Given the description of an element on the screen output the (x, y) to click on. 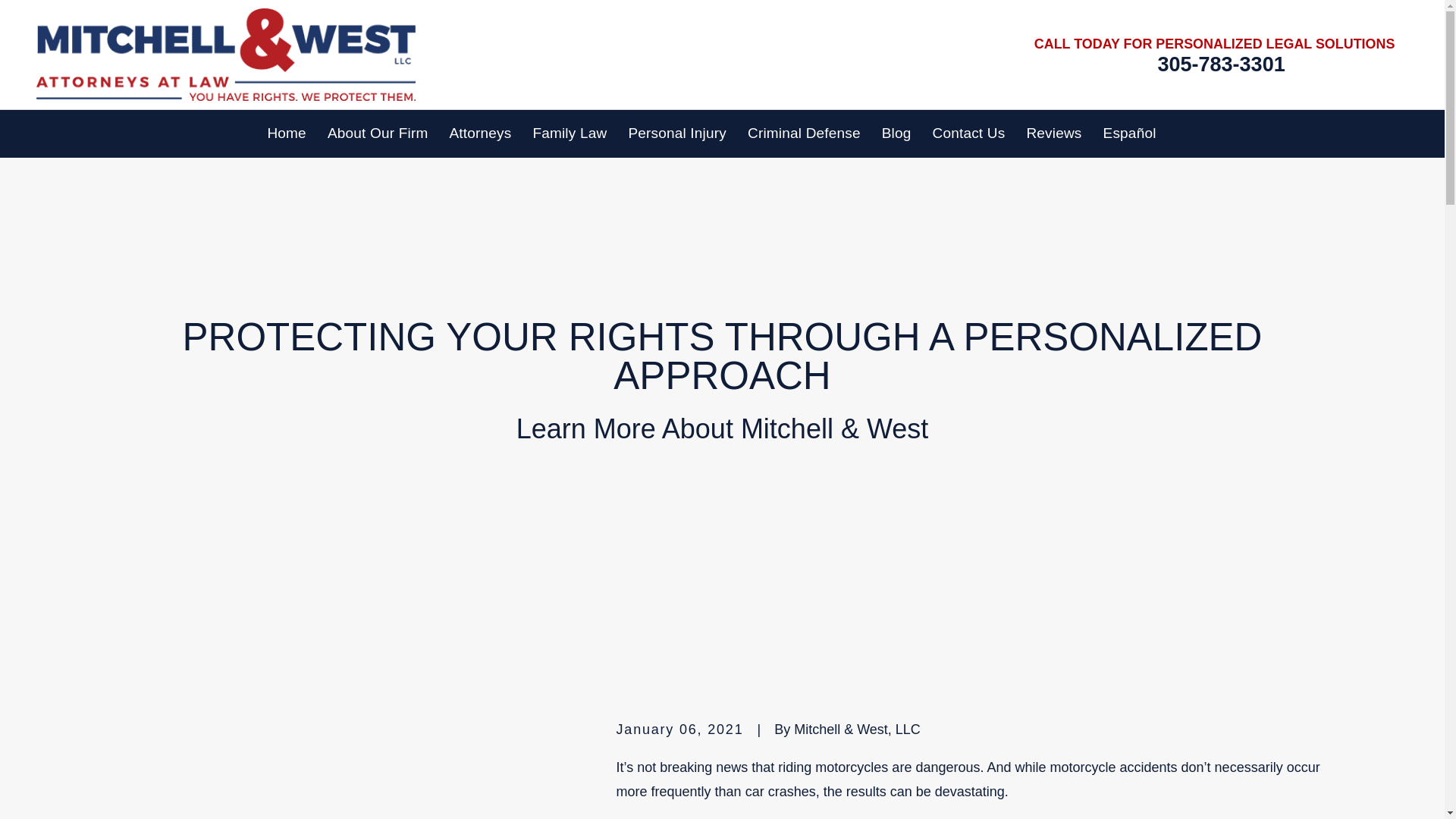
About Our Firm (377, 133)
Personal Injury (676, 133)
305-783-3301 (1221, 64)
Attorneys (479, 133)
Home (225, 54)
Family Law (569, 133)
Home (285, 133)
